Given the description of an element on the screen output the (x, y) to click on. 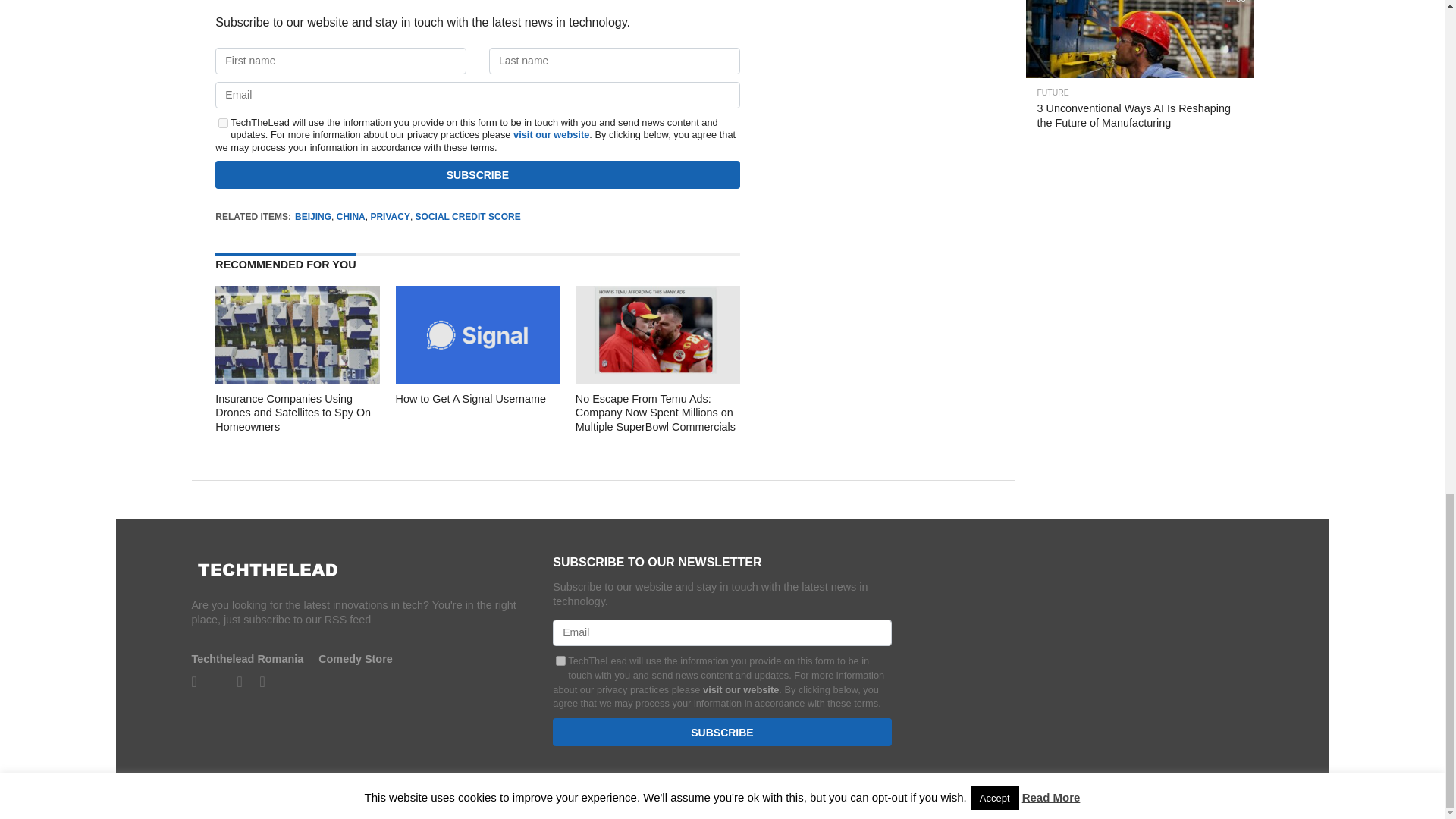
Subscribe (477, 174)
How to Get A Signal Username (478, 379)
1 (561, 660)
1 (223, 122)
Subscribe (722, 732)
